Given the description of an element on the screen output the (x, y) to click on. 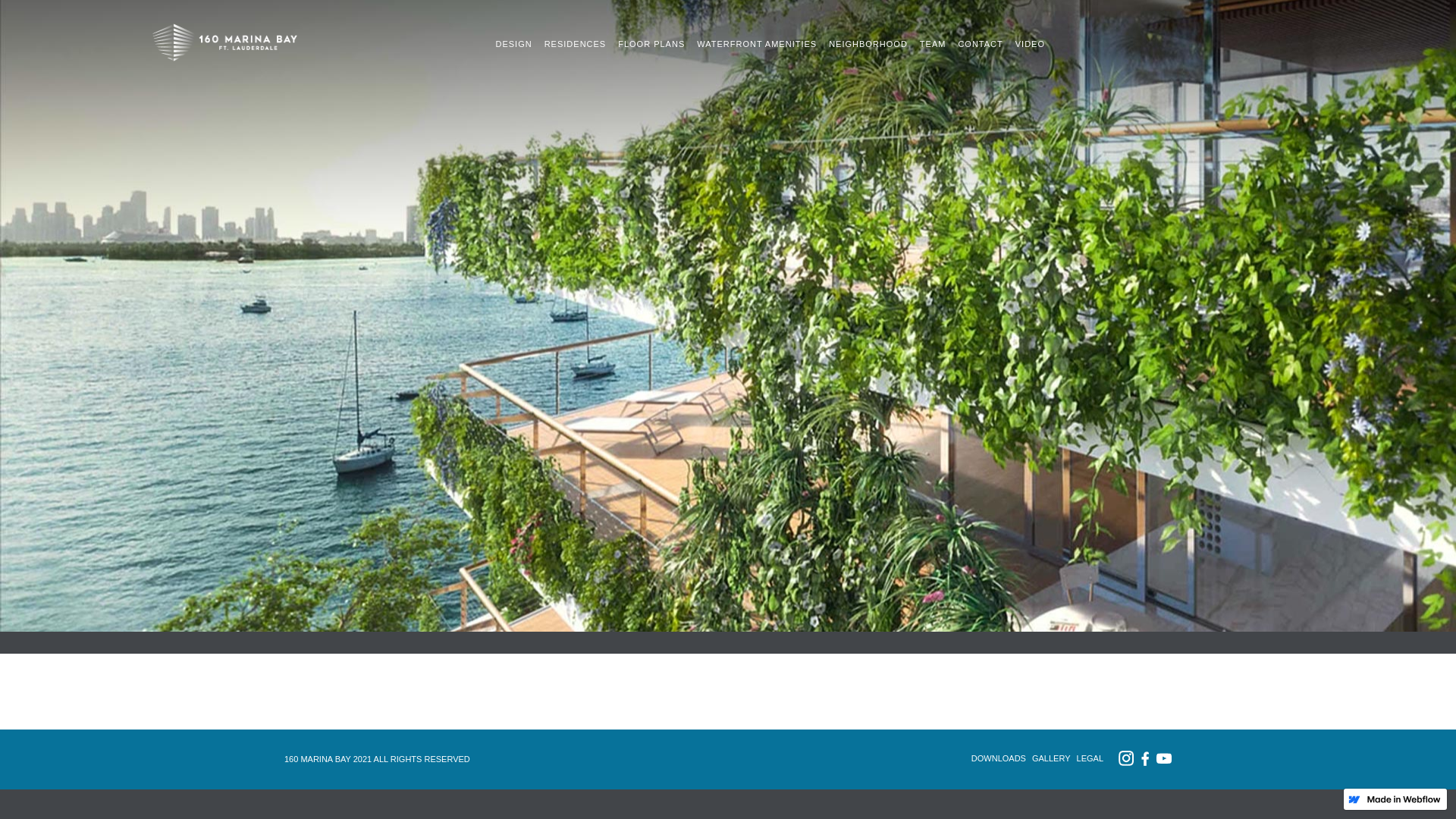
DESIGN Element type: text (513, 40)
RESIDENCES Element type: text (575, 40)
LEGAL Element type: text (1089, 757)
TEAM Element type: text (932, 40)
NEIGHBORHOOD Element type: text (867, 40)
VIDEO Element type: text (1029, 40)
DOWNLOADS Element type: text (998, 757)
FLOOR PLANS Element type: text (651, 40)
WATERFRONT AMENITIES Element type: text (756, 40)
CONTACT Element type: text (979, 40)
GALLERY Element type: text (1051, 757)
